Given the description of an element on the screen output the (x, y) to click on. 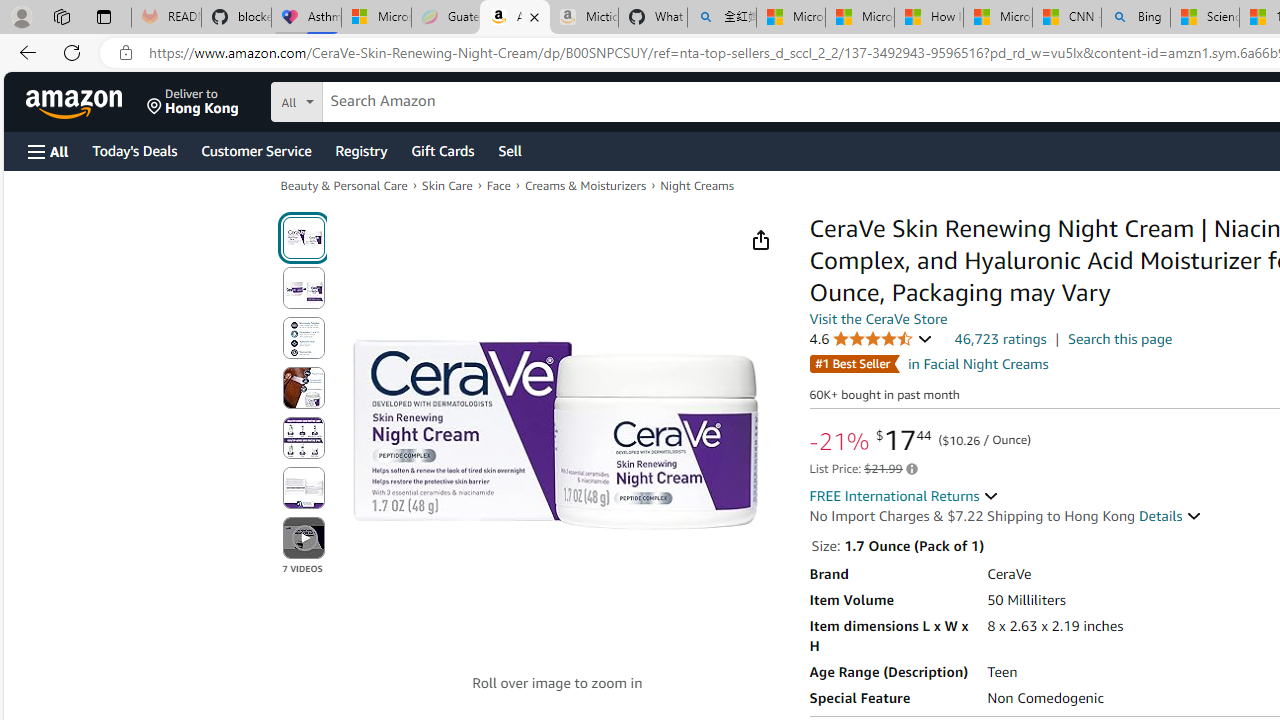
Share (760, 240)
Back (24, 52)
Creams & Moisturizers (584, 184)
Skip to main content (86, 100)
Amazon (76, 101)
Sell (509, 150)
Personal Profile (21, 16)
Bing (1135, 17)
Today's Deals (134, 150)
Refresh (72, 52)
View site information (125, 53)
